Given the description of an element on the screen output the (x, y) to click on. 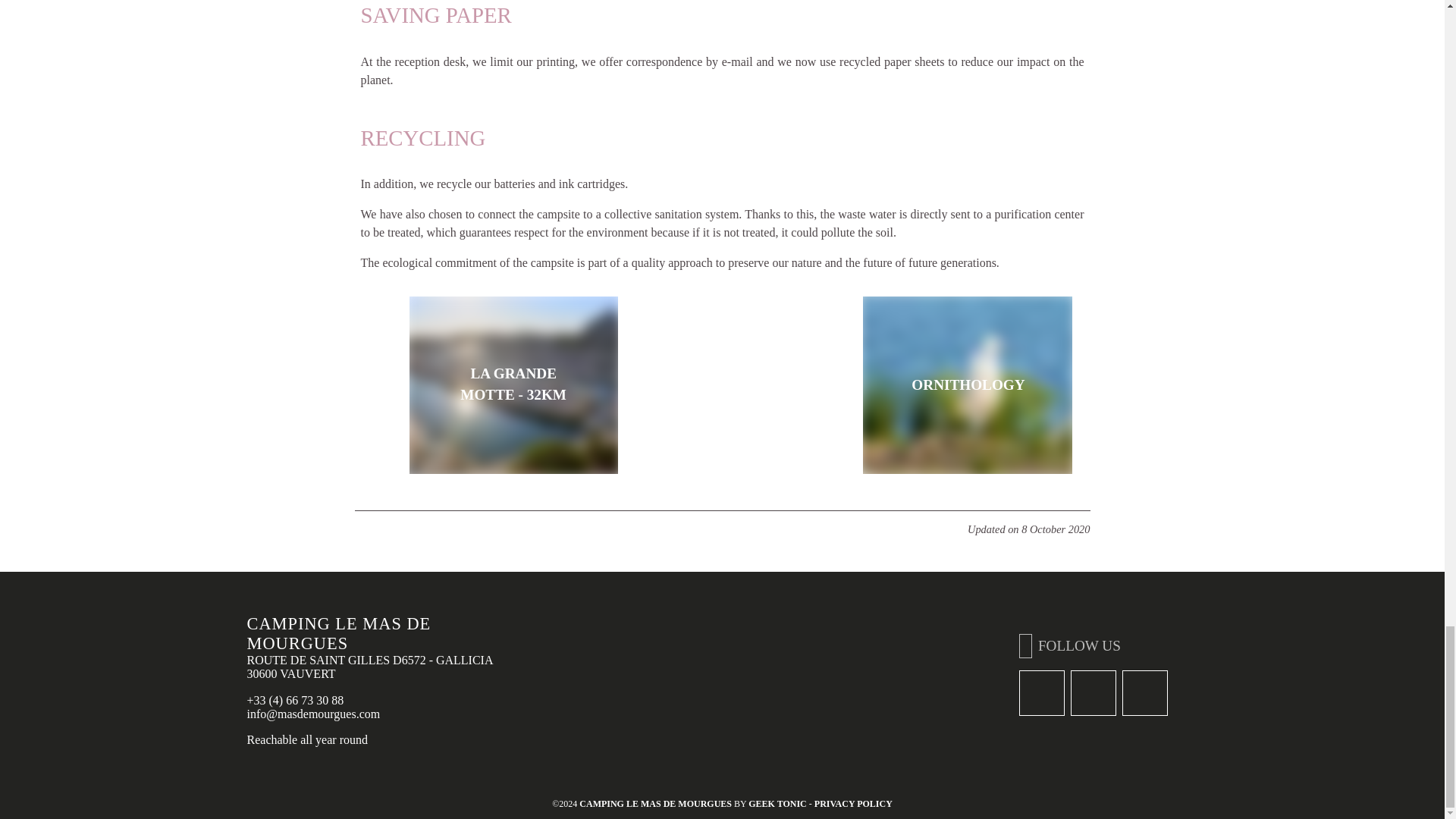
Retrouvez-nous sur Instagram (1093, 692)
Retrouvez-nous sur Youtube (1144, 692)
Learn more about ornithology (967, 385)
FACEBOOK (1041, 692)
GEEK TONIC (777, 803)
PRIVACY POLICY (852, 803)
LA GRANDE MOTTE - 32KM (513, 385)
ORNITHOLOGY (967, 385)
Learn more about la grande motte (513, 385)
INSTAGRAM (1093, 692)
